Given the description of an element on the screen output the (x, y) to click on. 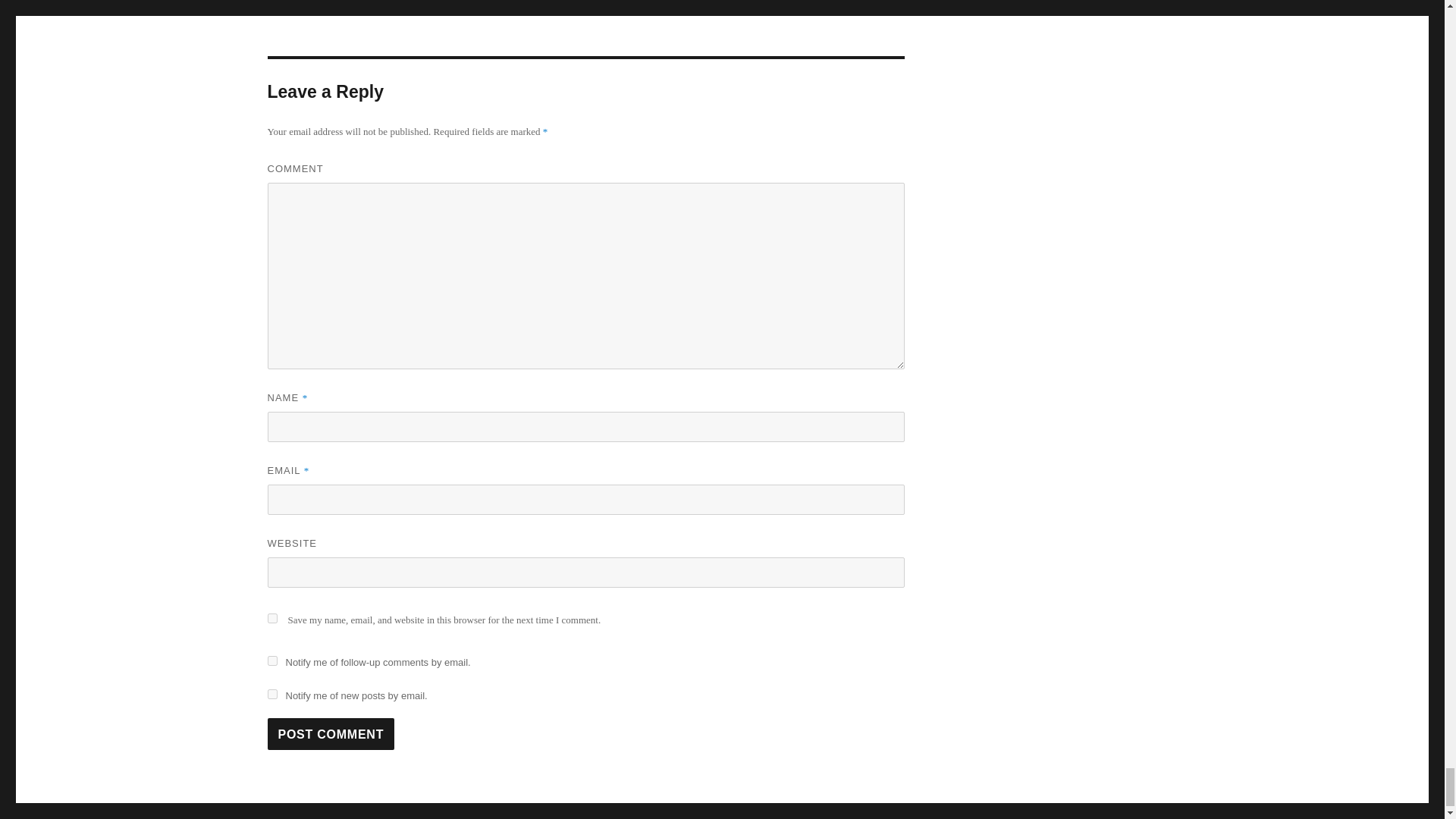
Post Comment (330, 734)
yes (271, 618)
subscribe (271, 660)
subscribe (271, 694)
Post Comment (330, 734)
